Given the description of an element on the screen output the (x, y) to click on. 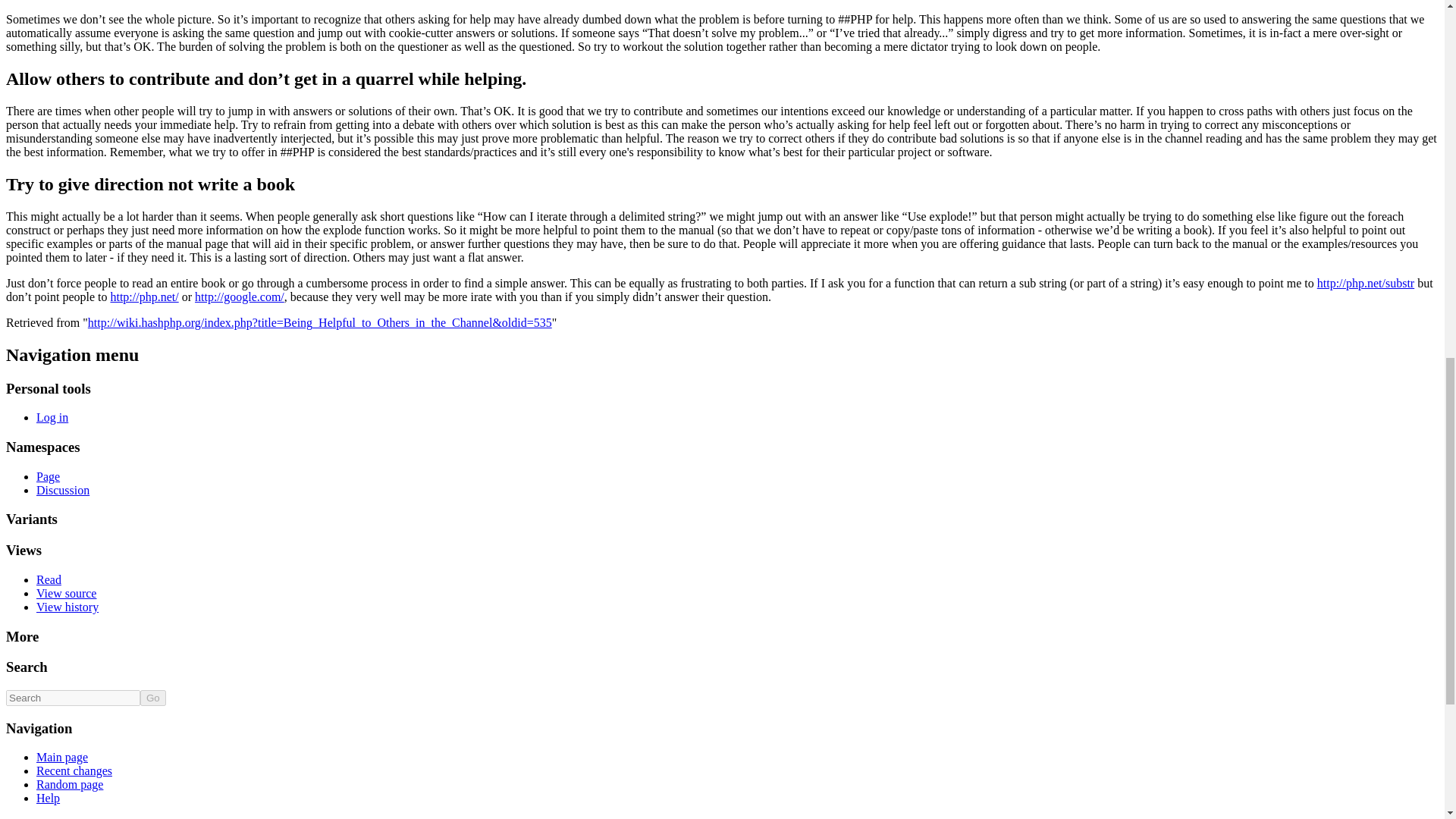
Random page (69, 784)
Go (152, 697)
Go (152, 697)
Page (47, 476)
Main page (61, 757)
Help (47, 797)
Read (48, 579)
View source (66, 593)
View history (67, 606)
Go (152, 697)
